Given the description of an element on the screen output the (x, y) to click on. 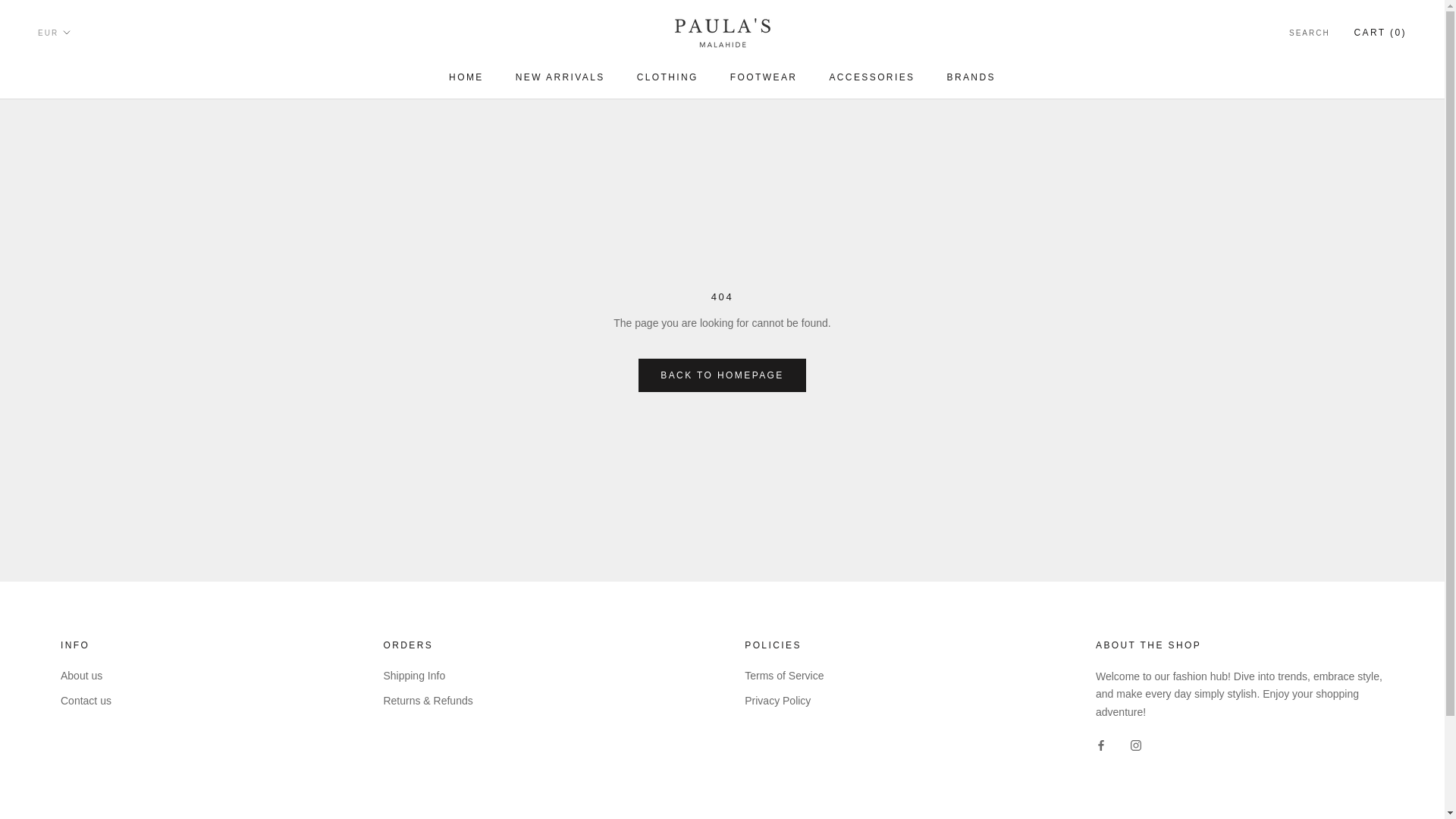
BACK TO HOMEPAGE (722, 375)
SEARCH (465, 77)
About us (1309, 33)
CLOTHING (86, 675)
Contact us (667, 77)
